Given the description of an element on the screen output the (x, y) to click on. 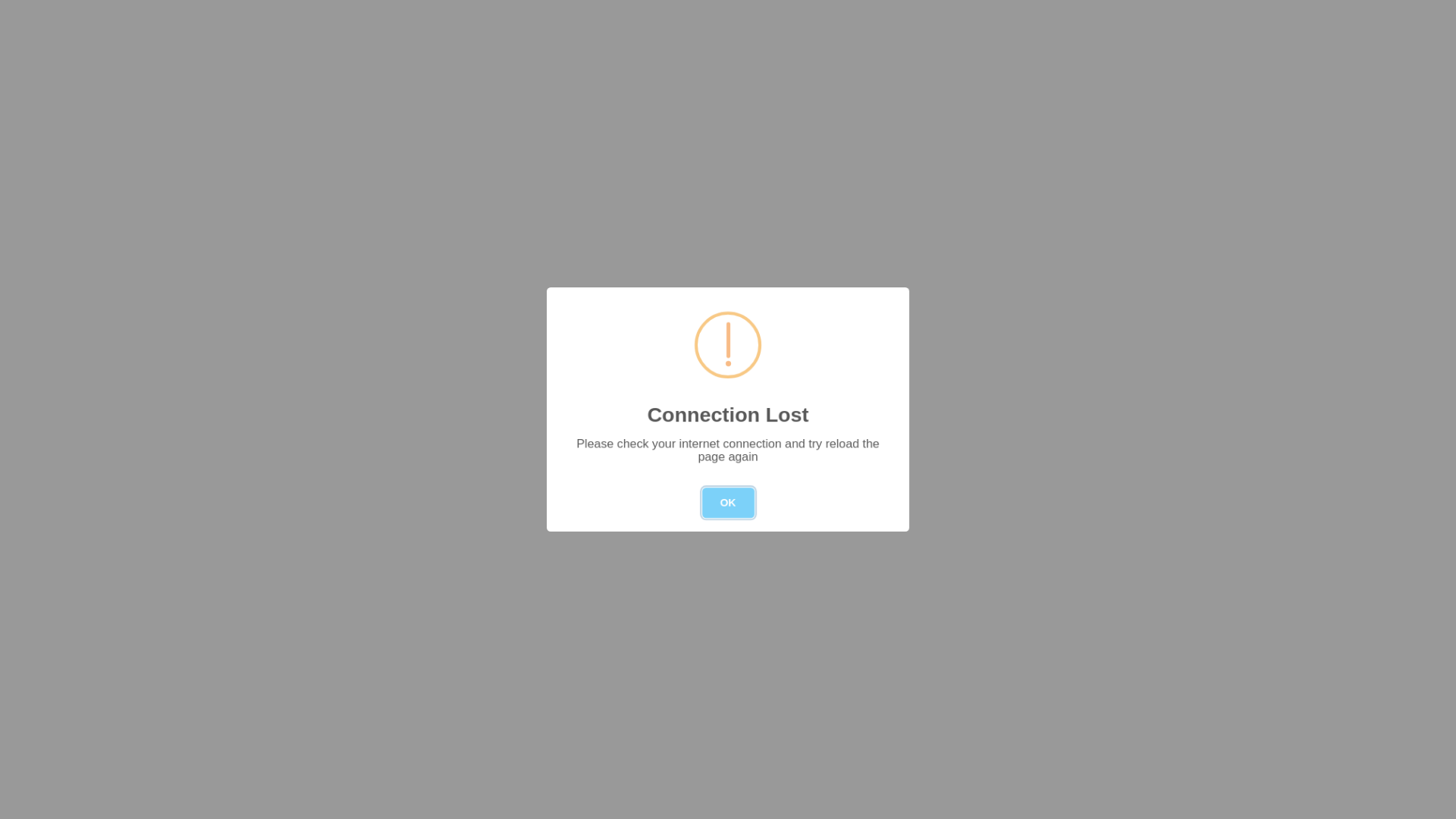
OK Element type: text (728, 502)
